Given the description of an element on the screen output the (x, y) to click on. 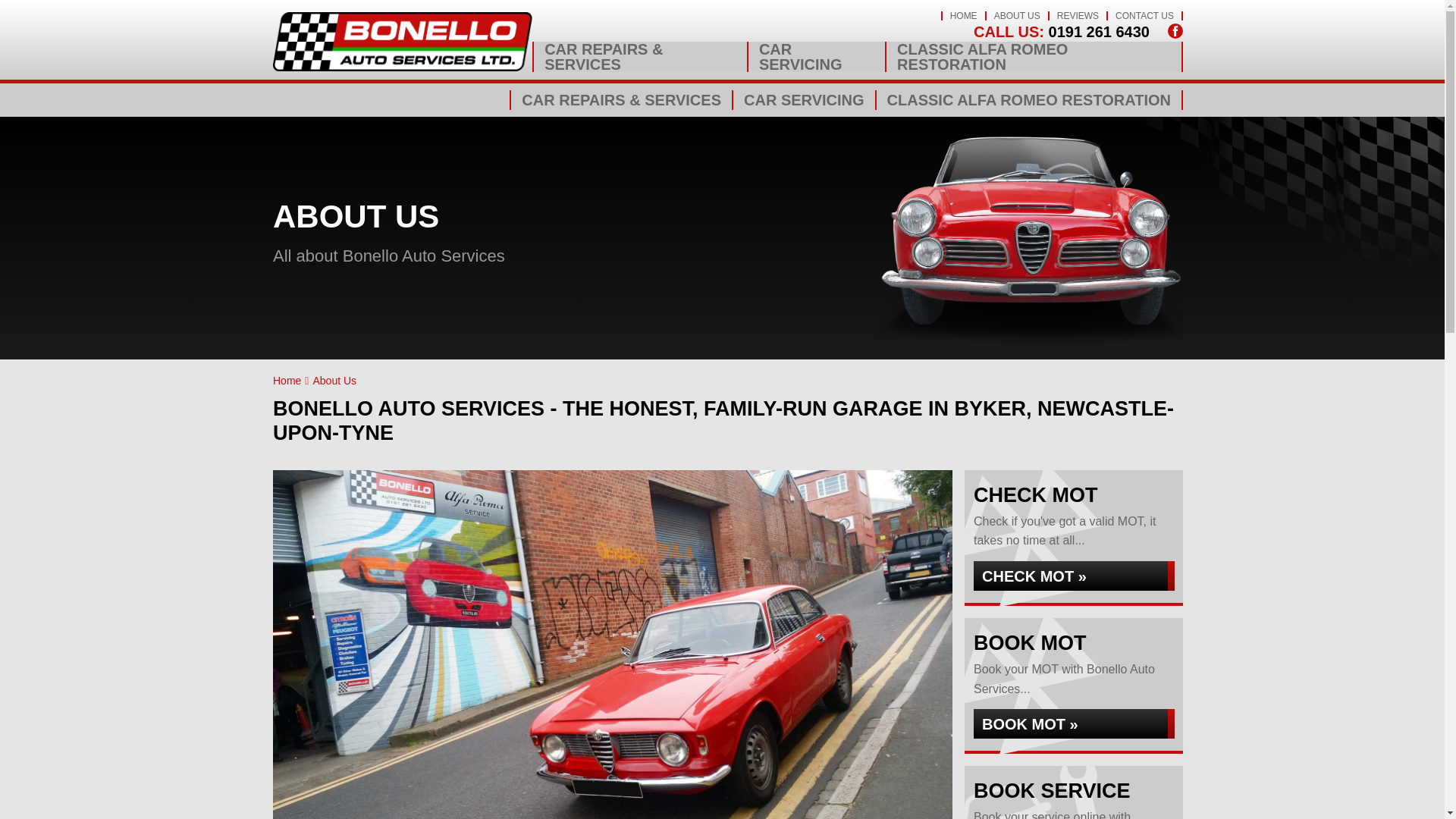
REVIEWS (1078, 15)
CONTACT US (1144, 15)
ABOUT US (1017, 15)
HOME (963, 15)
CALL US: 0191 261 6430 (1062, 31)
CAR SERVICING (817, 56)
CLASSIC ALFA ROMEO RESTORATION (1034, 56)
